Given the description of an element on the screen output the (x, y) to click on. 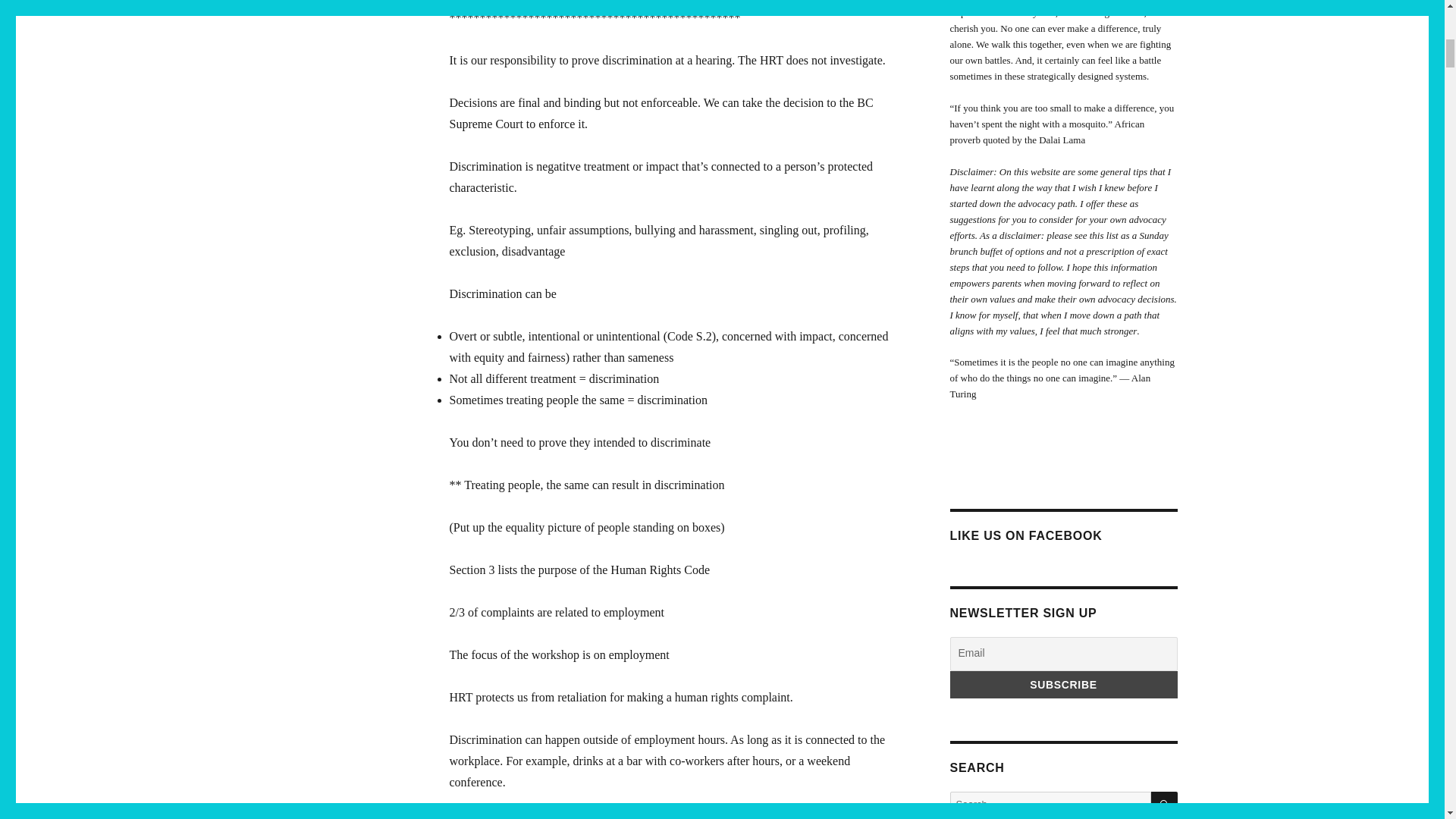
Subscribe (1062, 684)
